Given the description of an element on the screen output the (x, y) to click on. 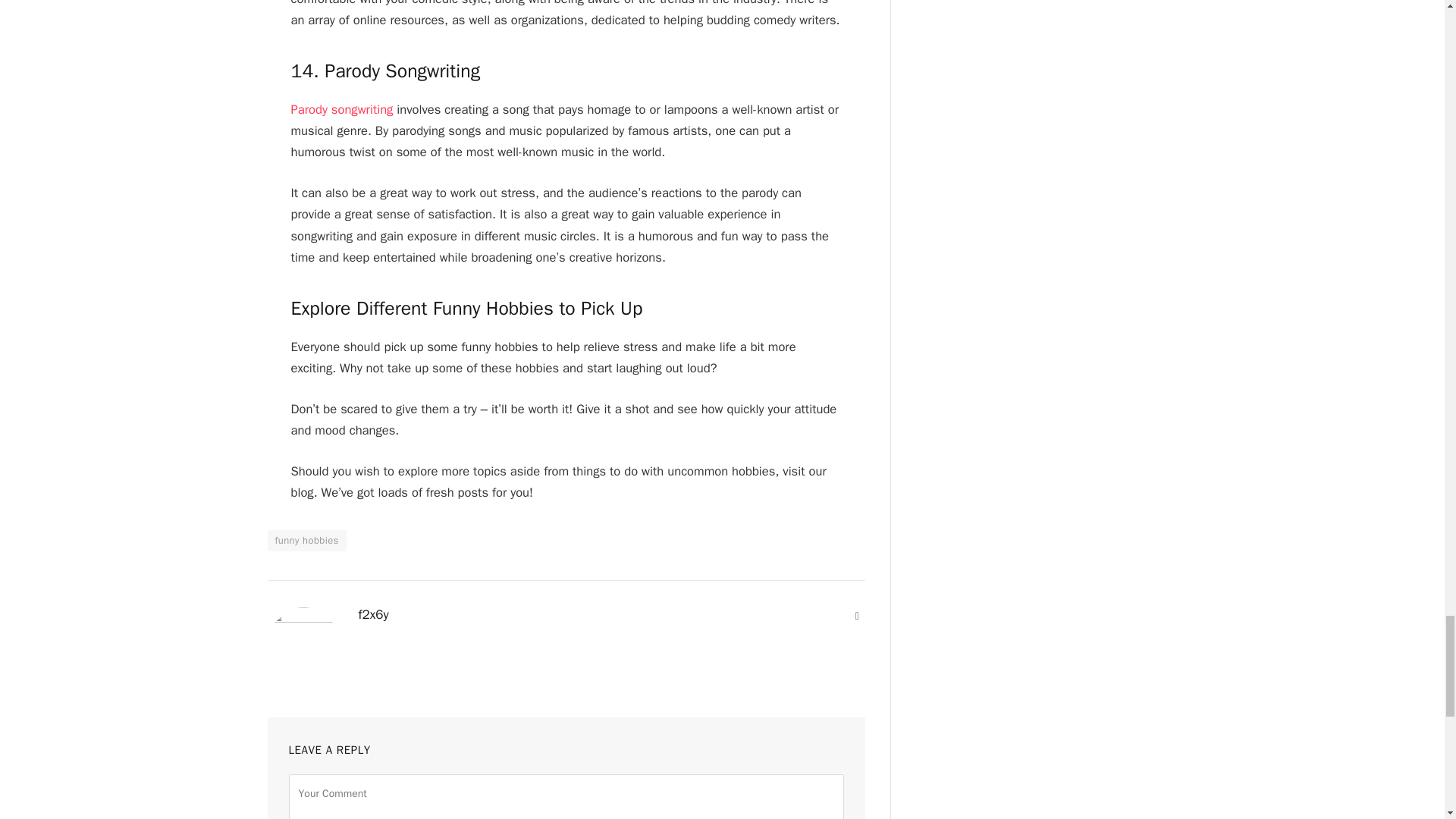
f2x6y (373, 614)
Website (856, 616)
funny hobbies (306, 540)
Parody songwriting (342, 109)
Website (856, 616)
Posts by f2x6y (373, 614)
